Given the description of an element on the screen output the (x, y) to click on. 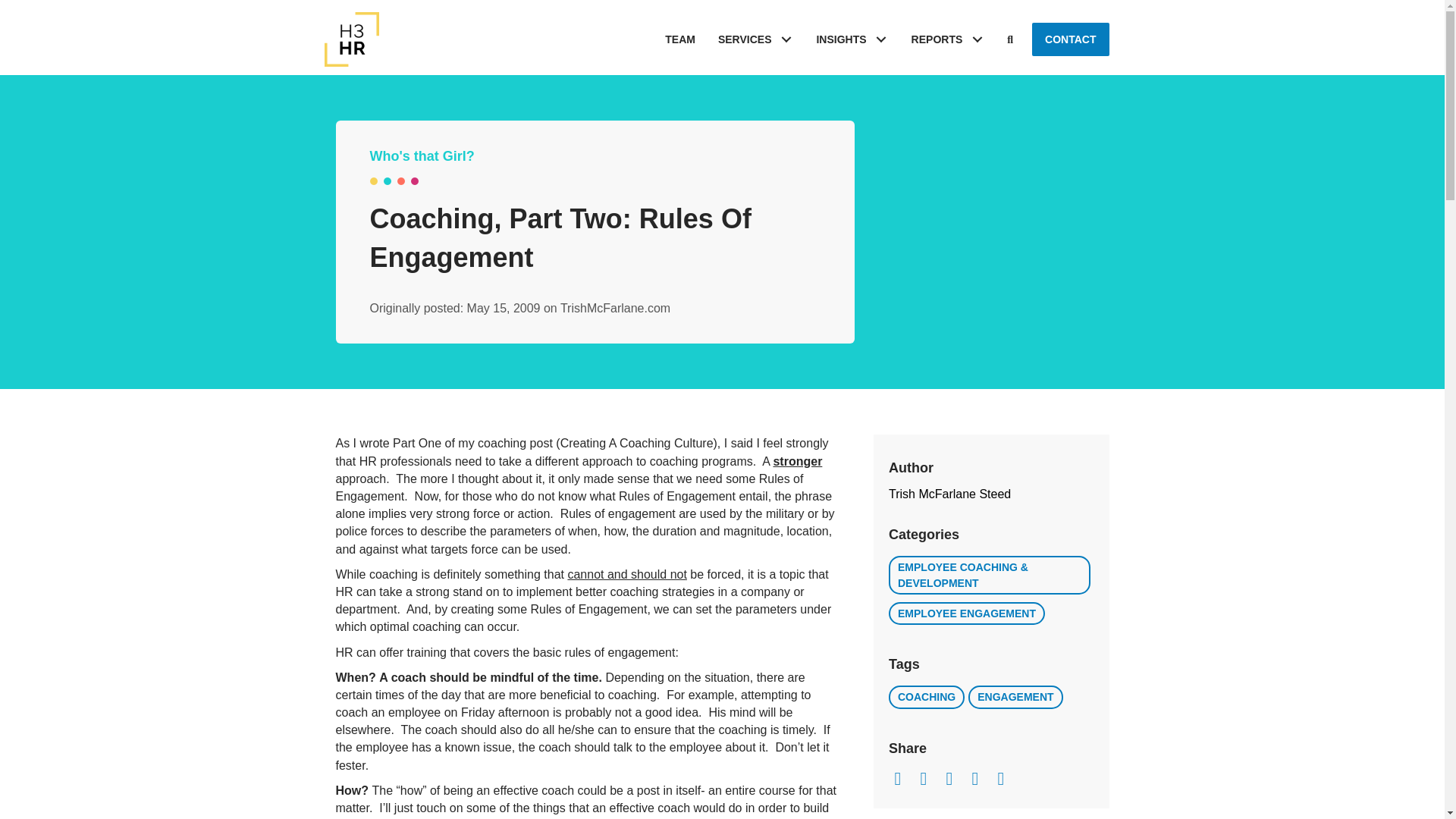
SERVICES (755, 39)
COACHING (925, 696)
REPORTS (947, 39)
TEAM (679, 39)
CONTACT (1070, 39)
ENGAGEMENT (1015, 696)
EMPLOYEE ENGAGEMENT (966, 612)
INSIGHTS (852, 39)
